Given the description of an element on the screen output the (x, y) to click on. 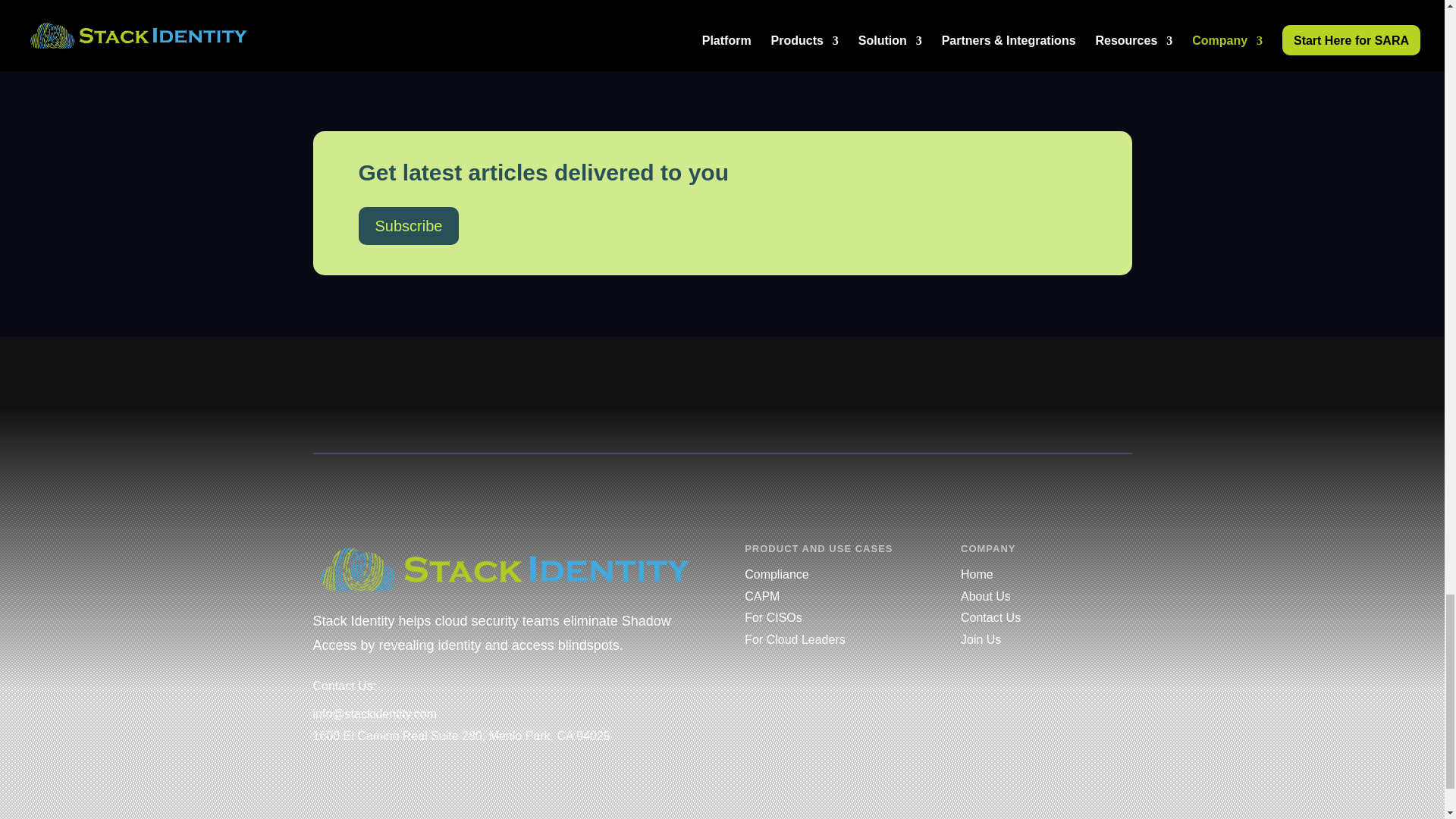
Stack Identity (505, 569)
